Given the description of an element on the screen output the (x, y) to click on. 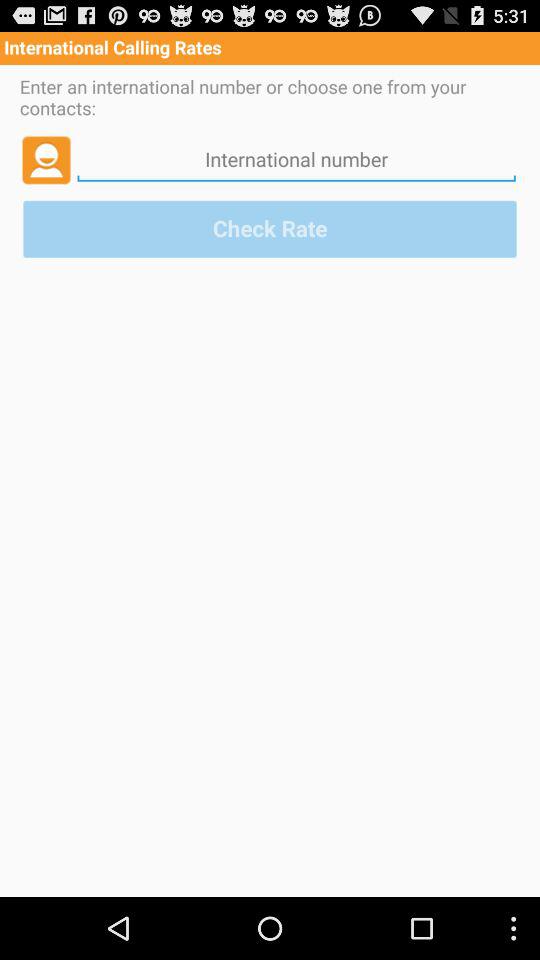
click the check rate button (269, 228)
